Given the description of an element on the screen output the (x, y) to click on. 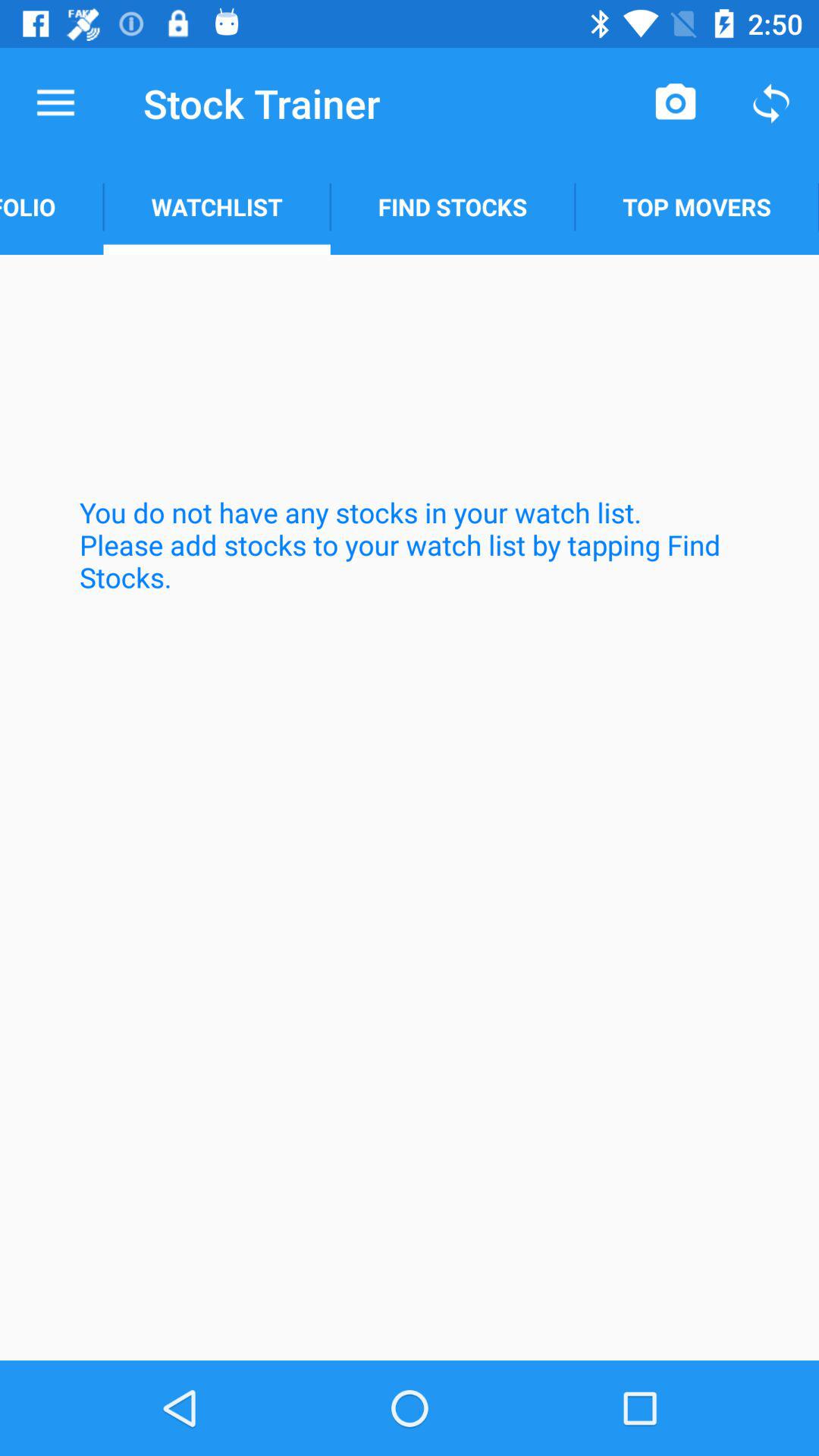
launch the watchlist item (216, 206)
